Given the description of an element on the screen output the (x, y) to click on. 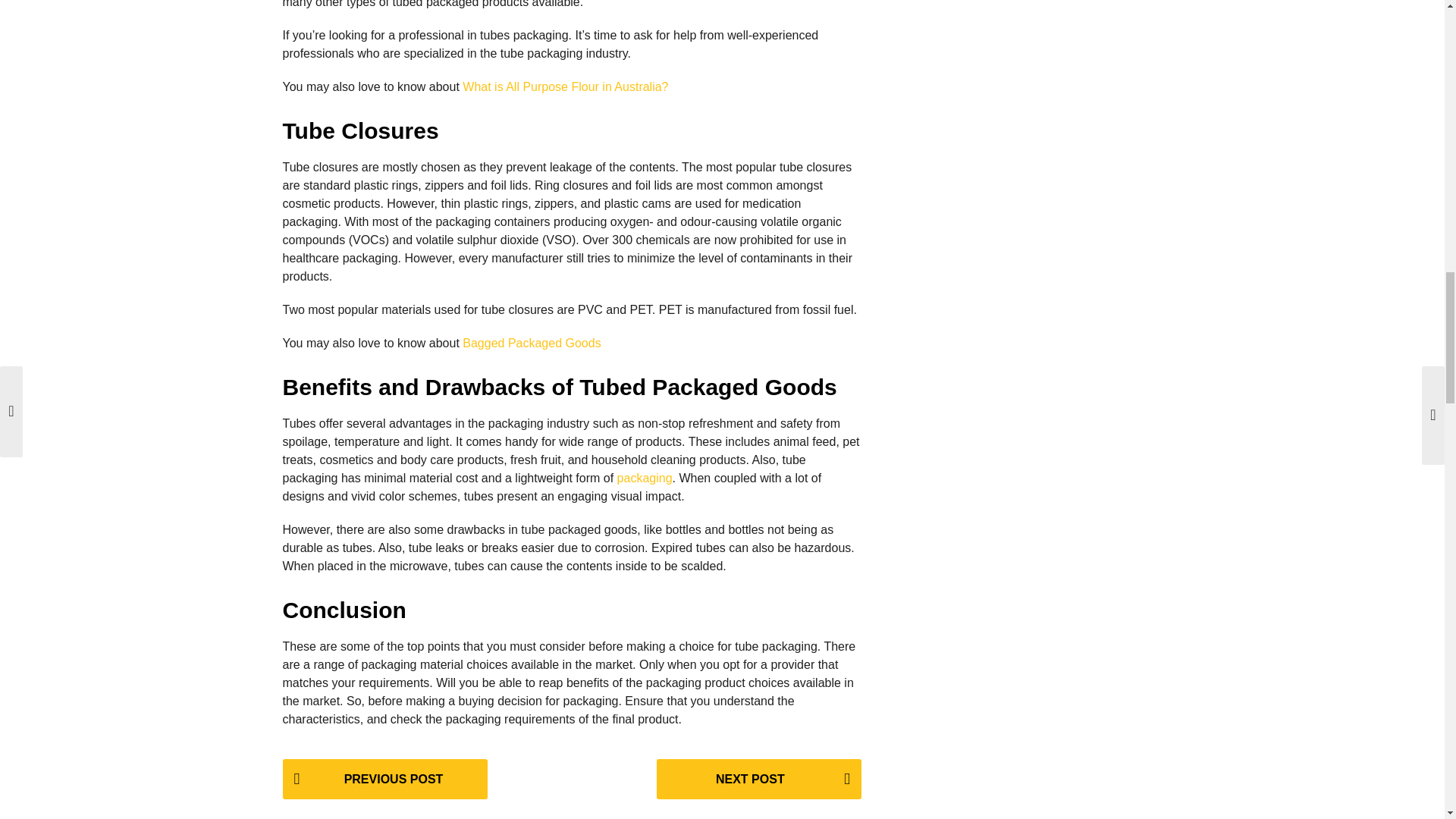
What is All Purpose Flour in Australia? (565, 86)
Bagged Packaged Goods (531, 342)
NEXT POST (758, 779)
PREVIOUS POST (384, 779)
packaging (644, 477)
